Given the description of an element on the screen output the (x, y) to click on. 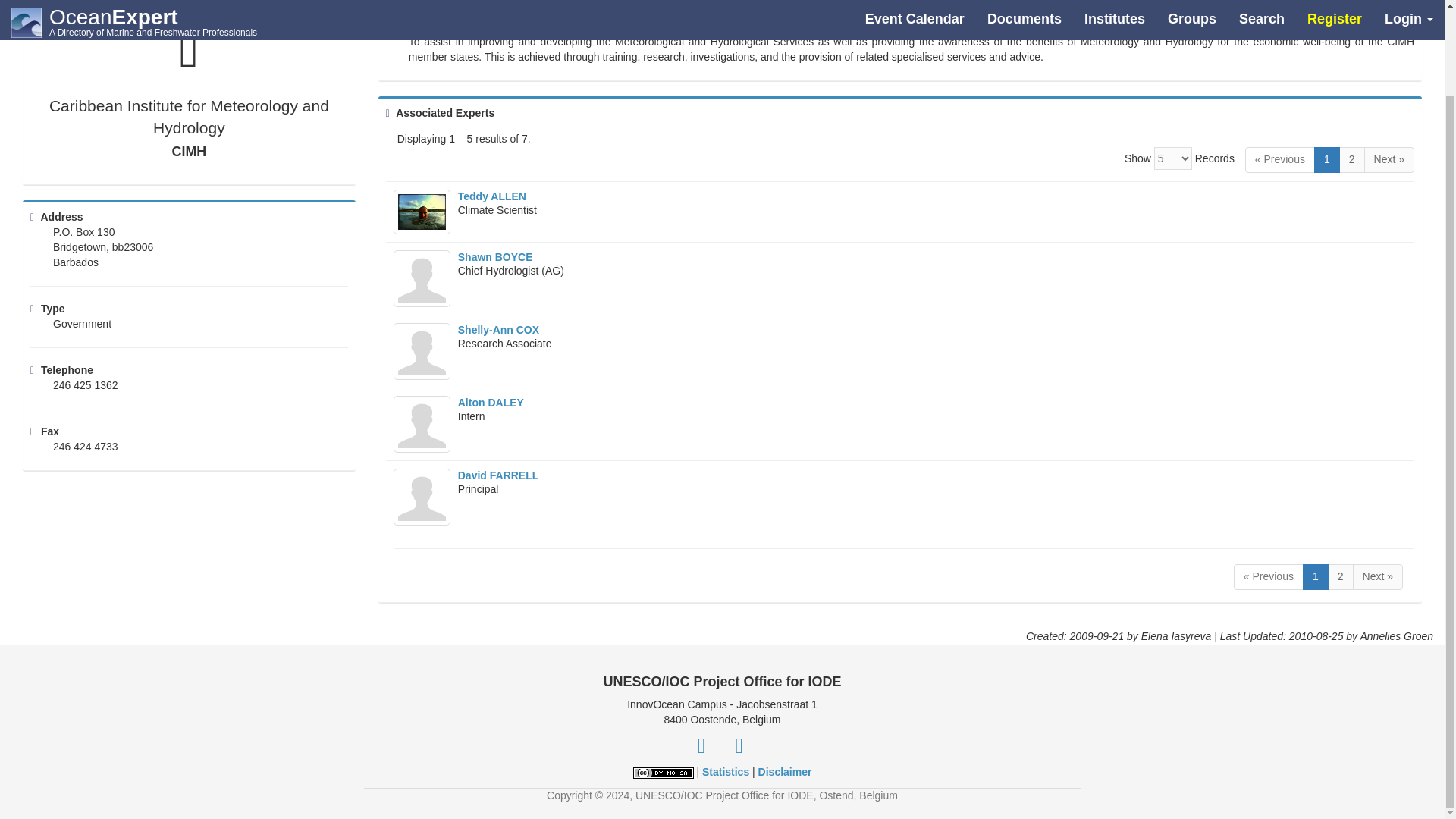
Alton DALEY (491, 402)
2 (1352, 159)
David FARRELL (498, 475)
2 (1340, 576)
Statistics (725, 771)
Teddy ALLEN (491, 196)
Shawn BOYCE (495, 256)
1 (1315, 576)
Shelly-Ann COX (498, 329)
Disclaimer (785, 771)
1 (1326, 159)
